Given the description of an element on the screen output the (x, y) to click on. 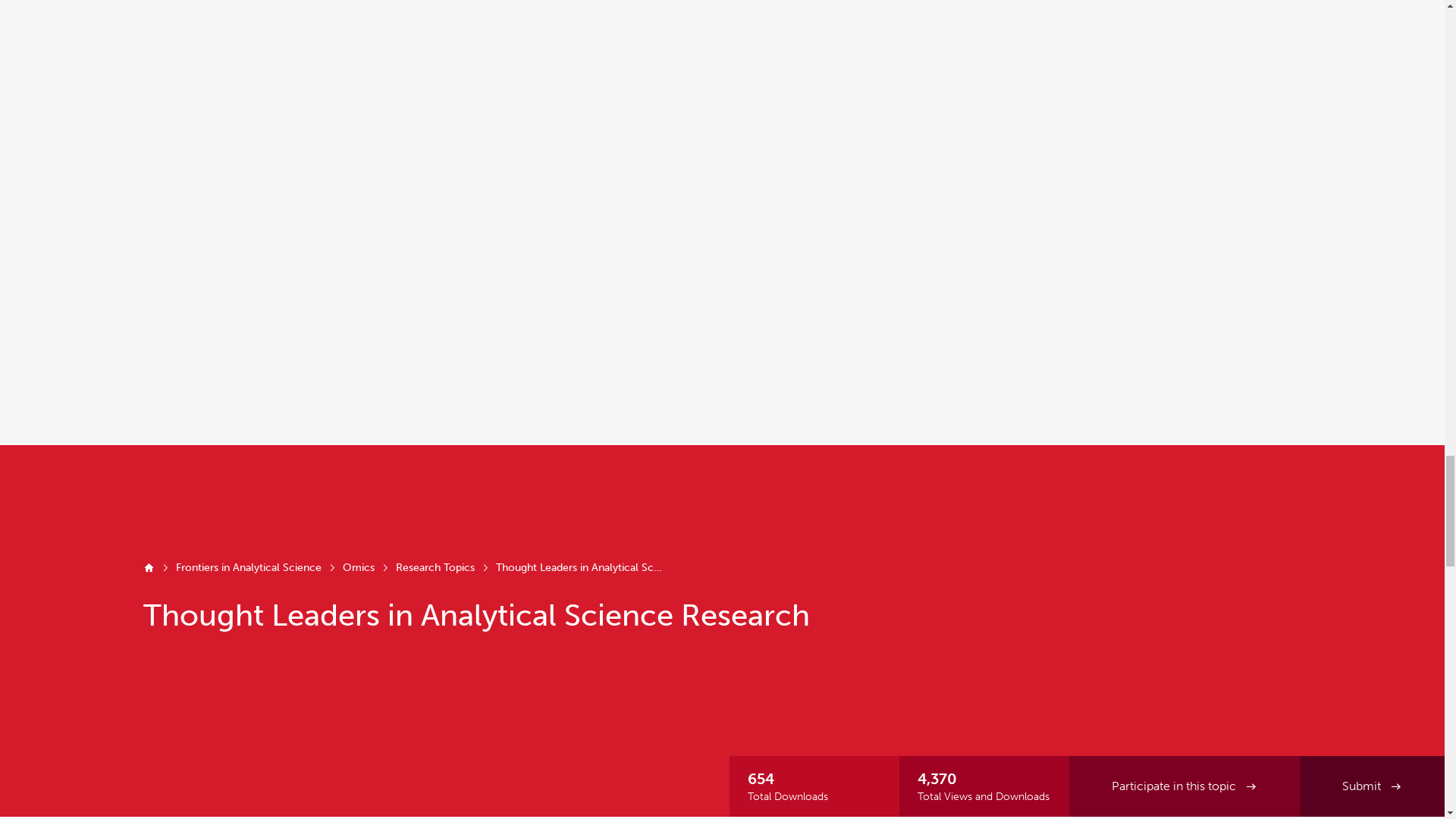
Research Topics (435, 567)
Thought Leaders in Analytical Science Research (579, 567)
Participate in this topic (1184, 785)
Omics (358, 567)
Frontiers in Analytical Science (248, 567)
